Given the description of an element on the screen output the (x, y) to click on. 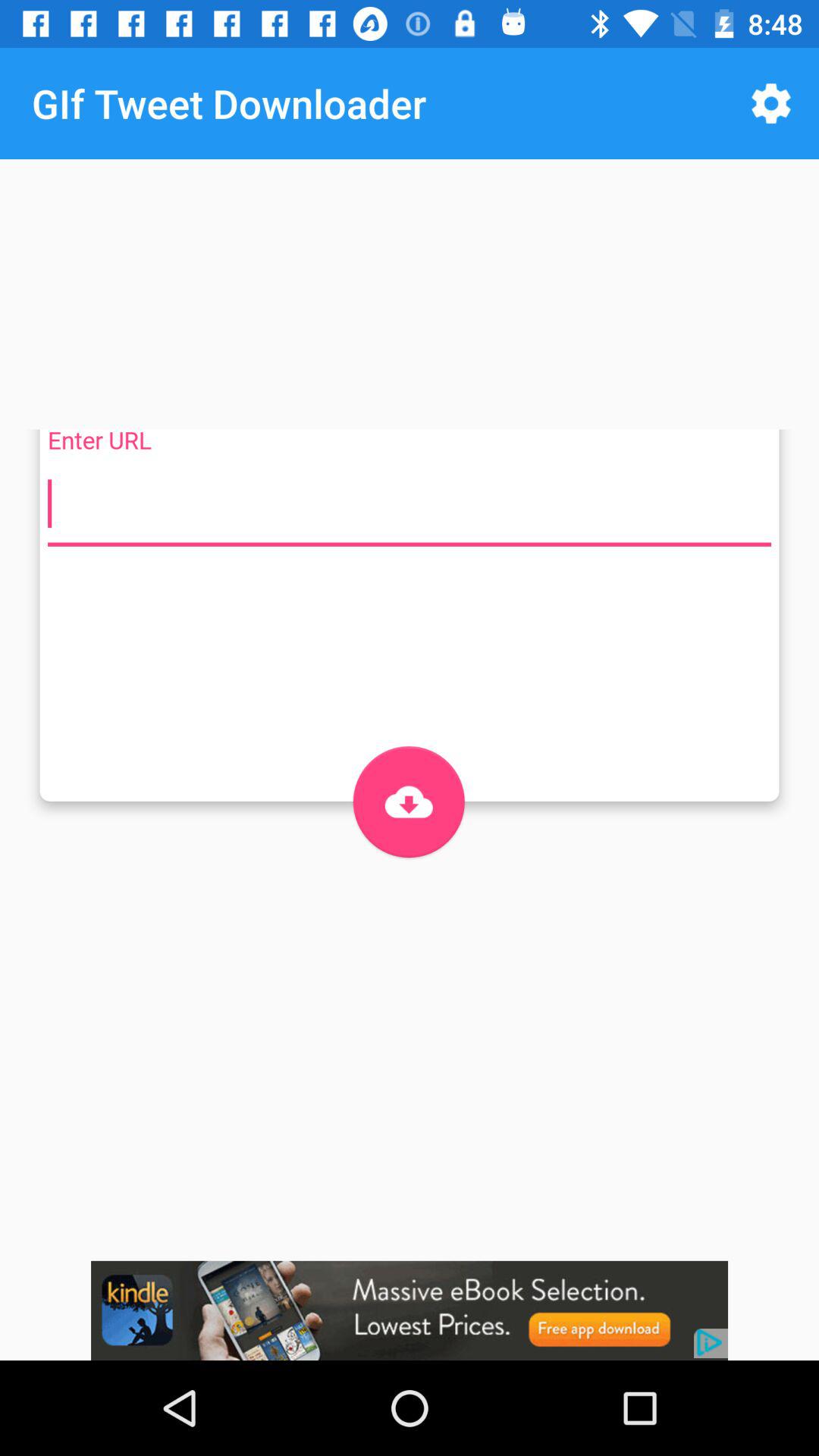
download (408, 801)
